Given the description of an element on the screen output the (x, y) to click on. 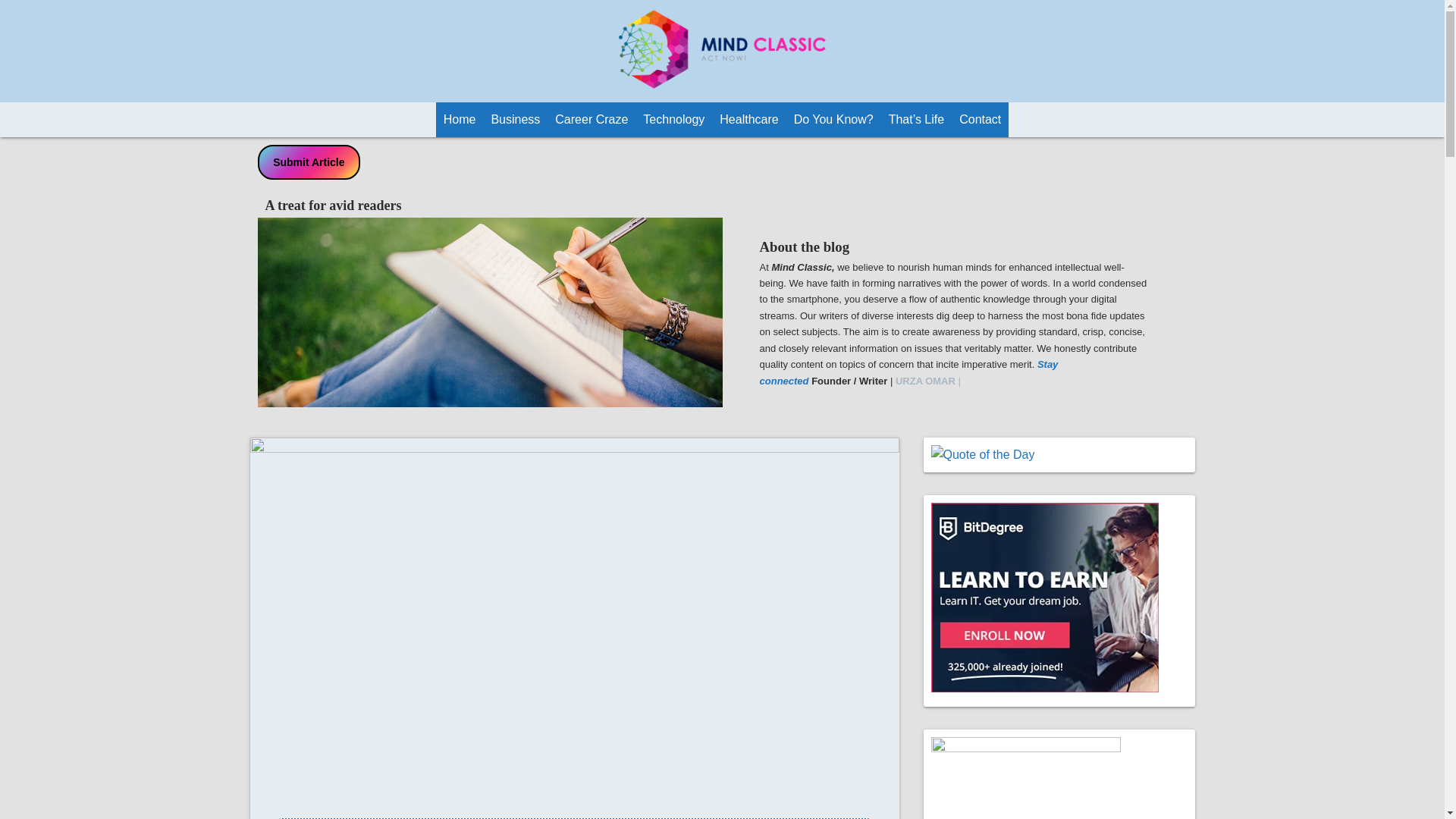
Stay connected (909, 371)
Healthcare (748, 119)
Career Craze (590, 119)
Submit Article (309, 161)
Technology (673, 119)
Home (460, 119)
Business (515, 119)
Contact (980, 119)
Do You Know? (833, 119)
